Given the description of an element on the screen output the (x, y) to click on. 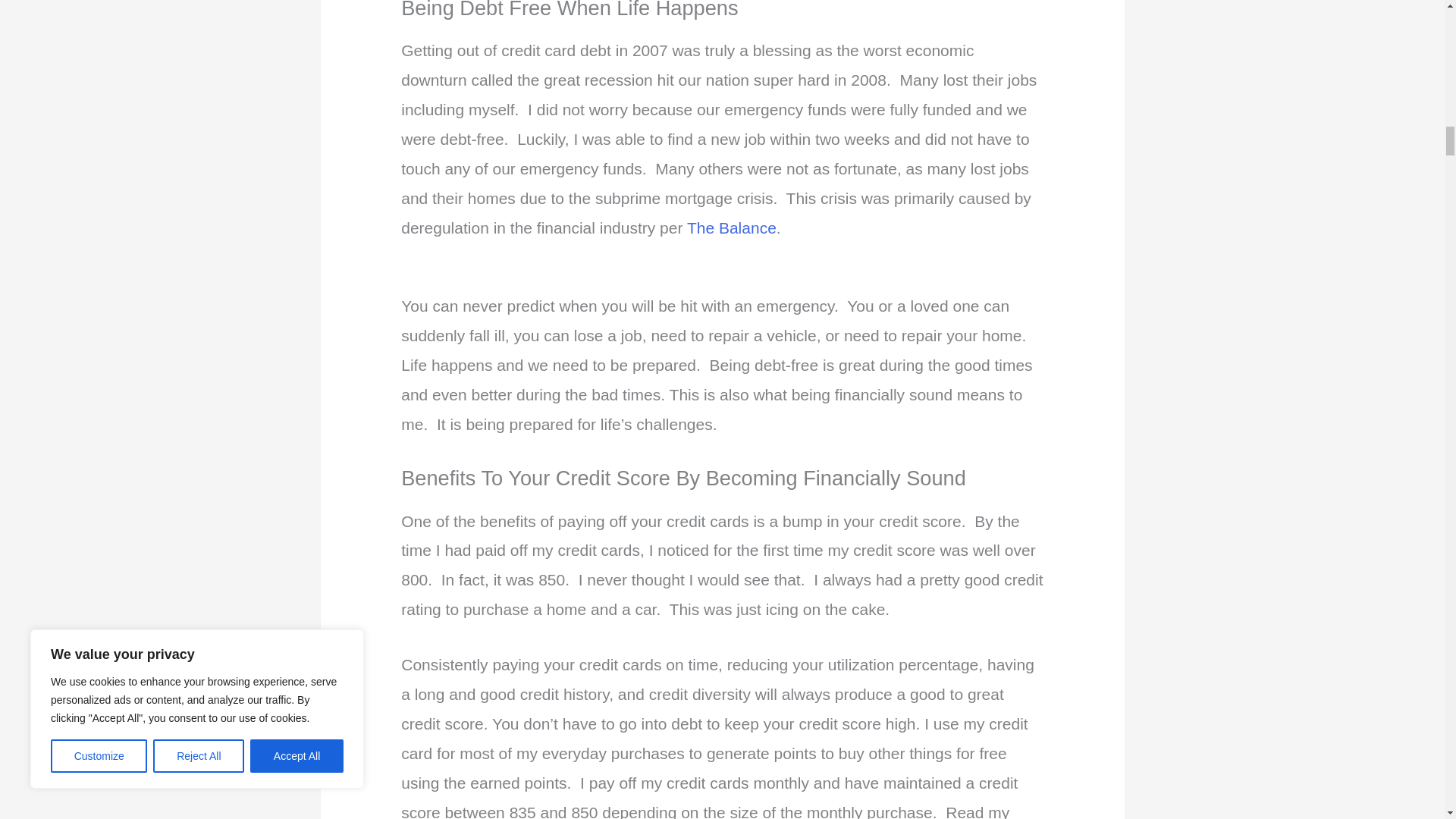
The Balance (731, 227)
